Given the description of an element on the screen output the (x, y) to click on. 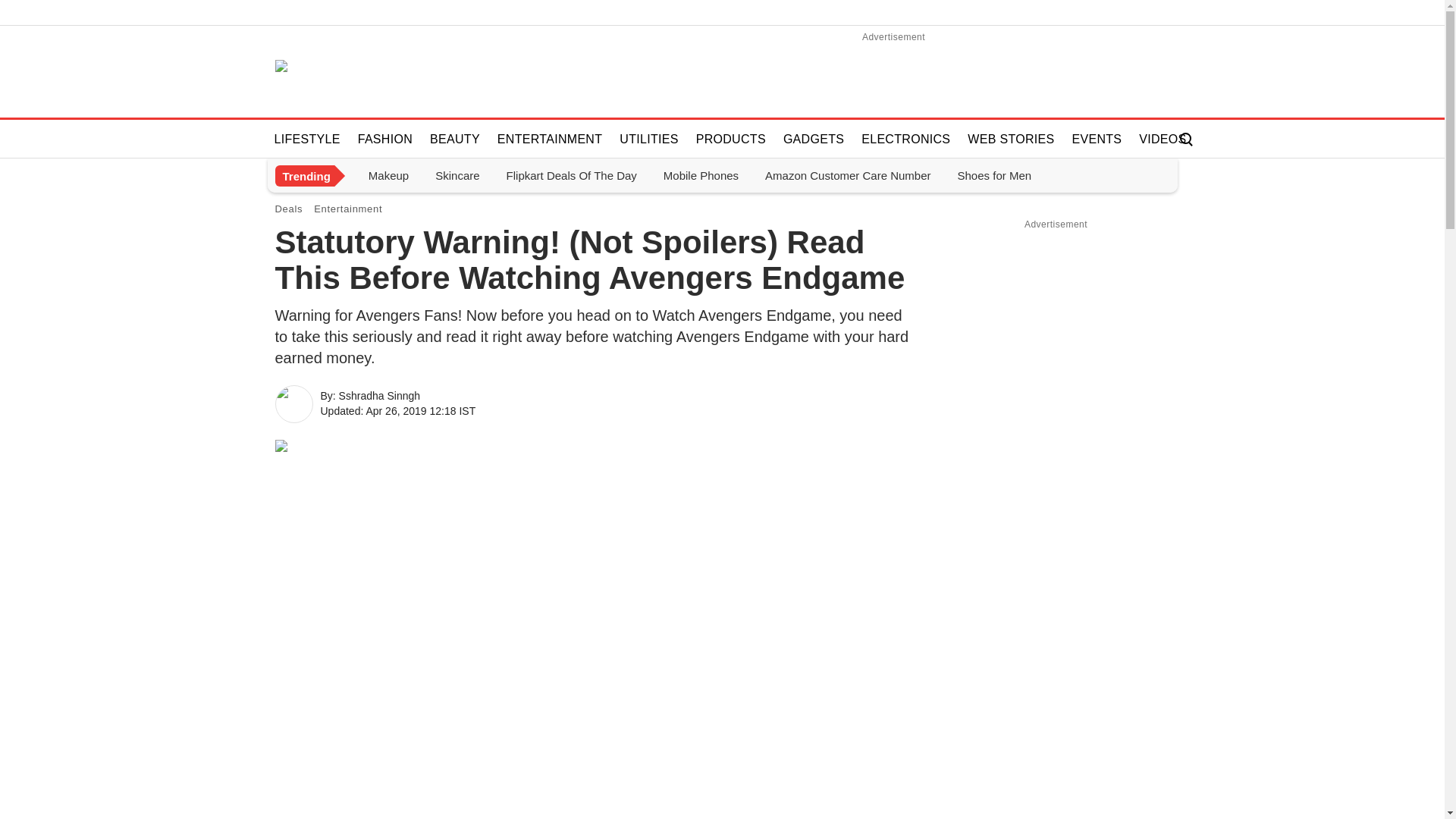
Sshradha Sinngh (294, 403)
Web Stories (1010, 138)
Beauty (454, 138)
Events (1096, 138)
Lifestyle (306, 138)
Gadgets (813, 138)
HotDeals360 (315, 71)
Fashion (384, 138)
Utilities (648, 138)
Videos (1162, 138)
Entertainment (550, 138)
ENTERTAINMENT (550, 138)
LIFESTYLE (306, 138)
BEAUTY (454, 138)
FASHION (384, 138)
